Given the description of an element on the screen output the (x, y) to click on. 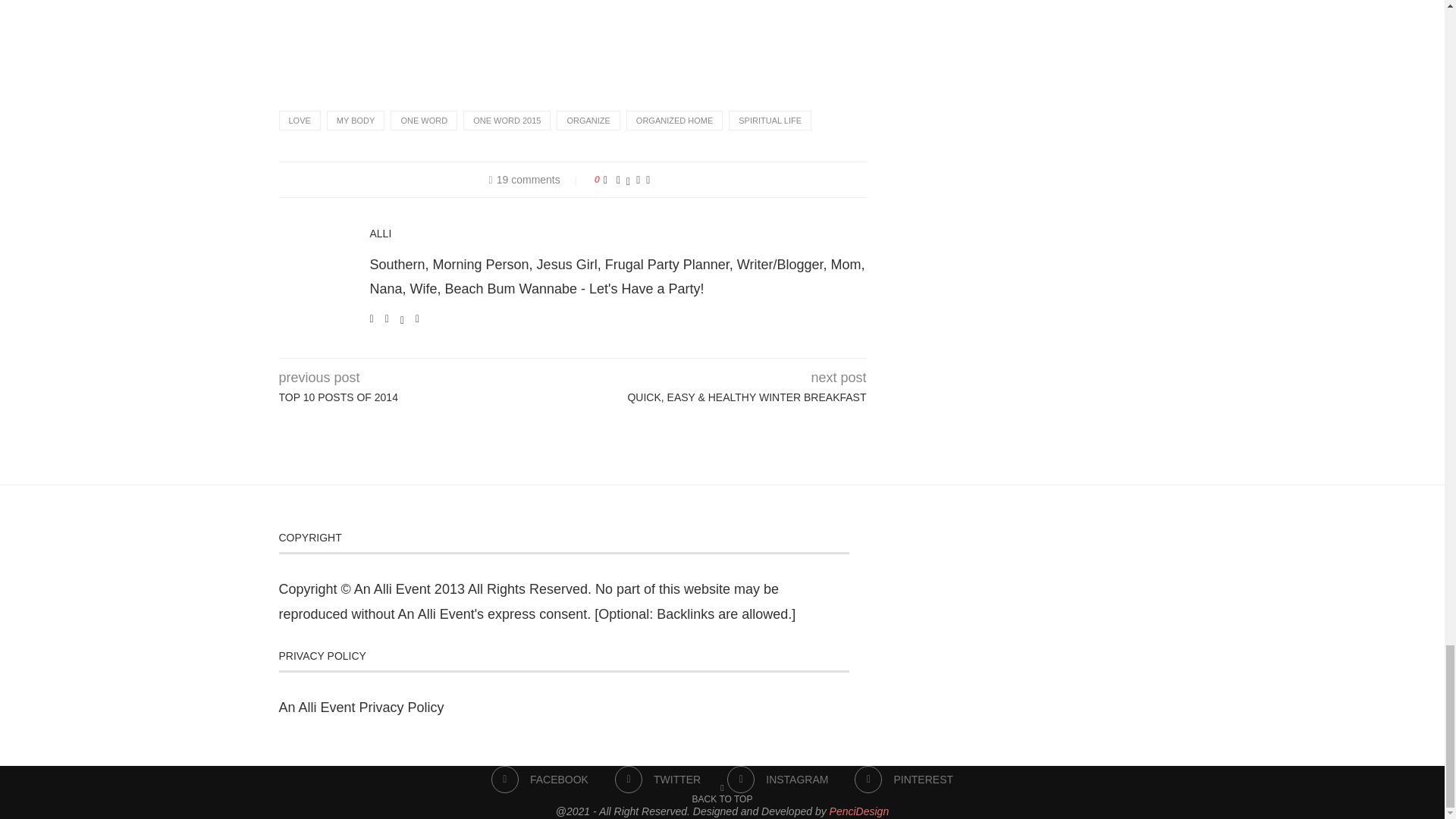
ORGANIZE (588, 120)
ONE WORD 2015 (506, 120)
Author Alli (380, 233)
ONE WORD (423, 120)
MY BODY (355, 120)
LOVE (299, 120)
